Given the description of an element on the screen output the (x, y) to click on. 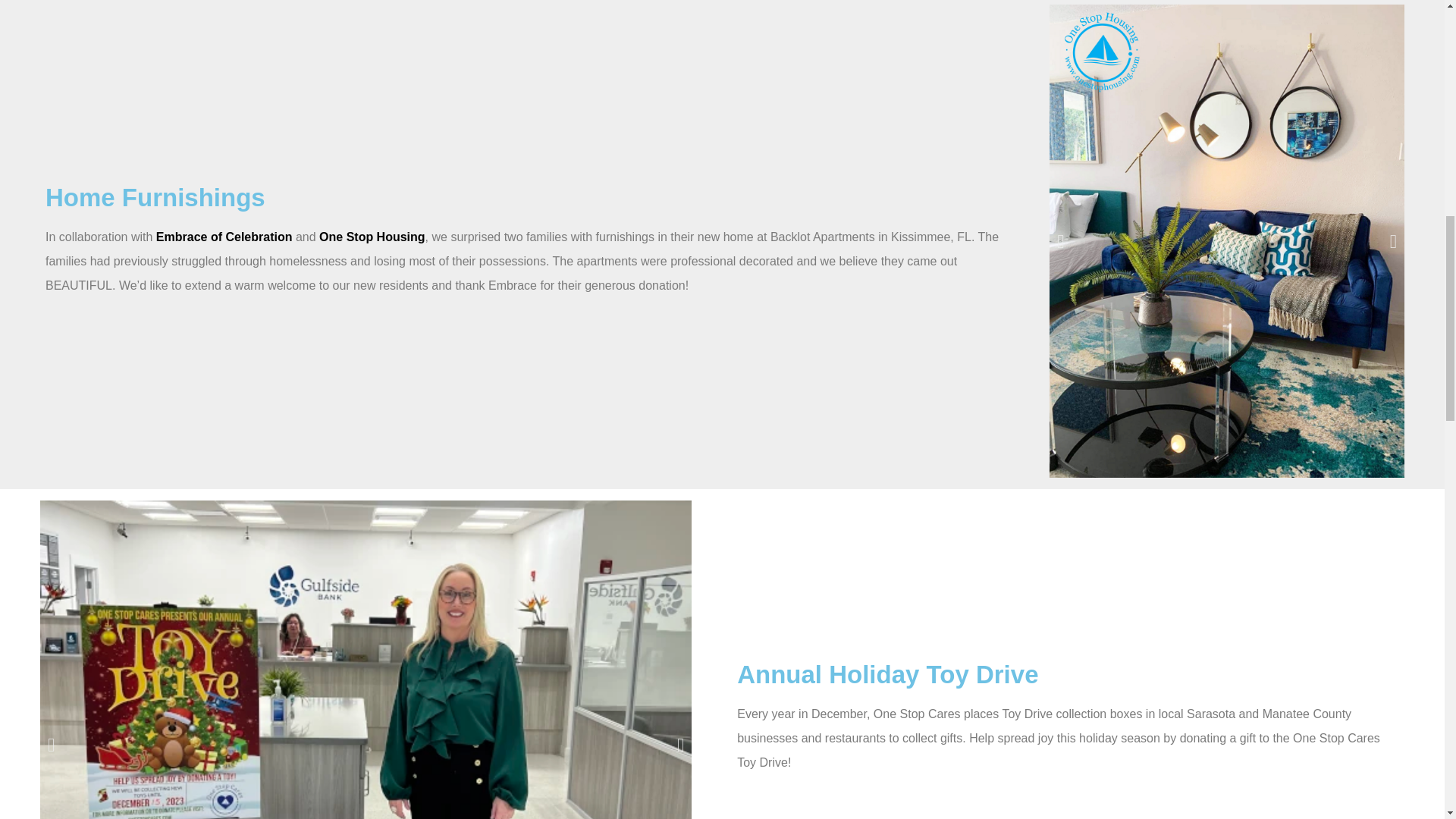
Embrace of Celebration (223, 236)
One Stop Housing (371, 236)
